Given the description of an element on the screen output the (x, y) to click on. 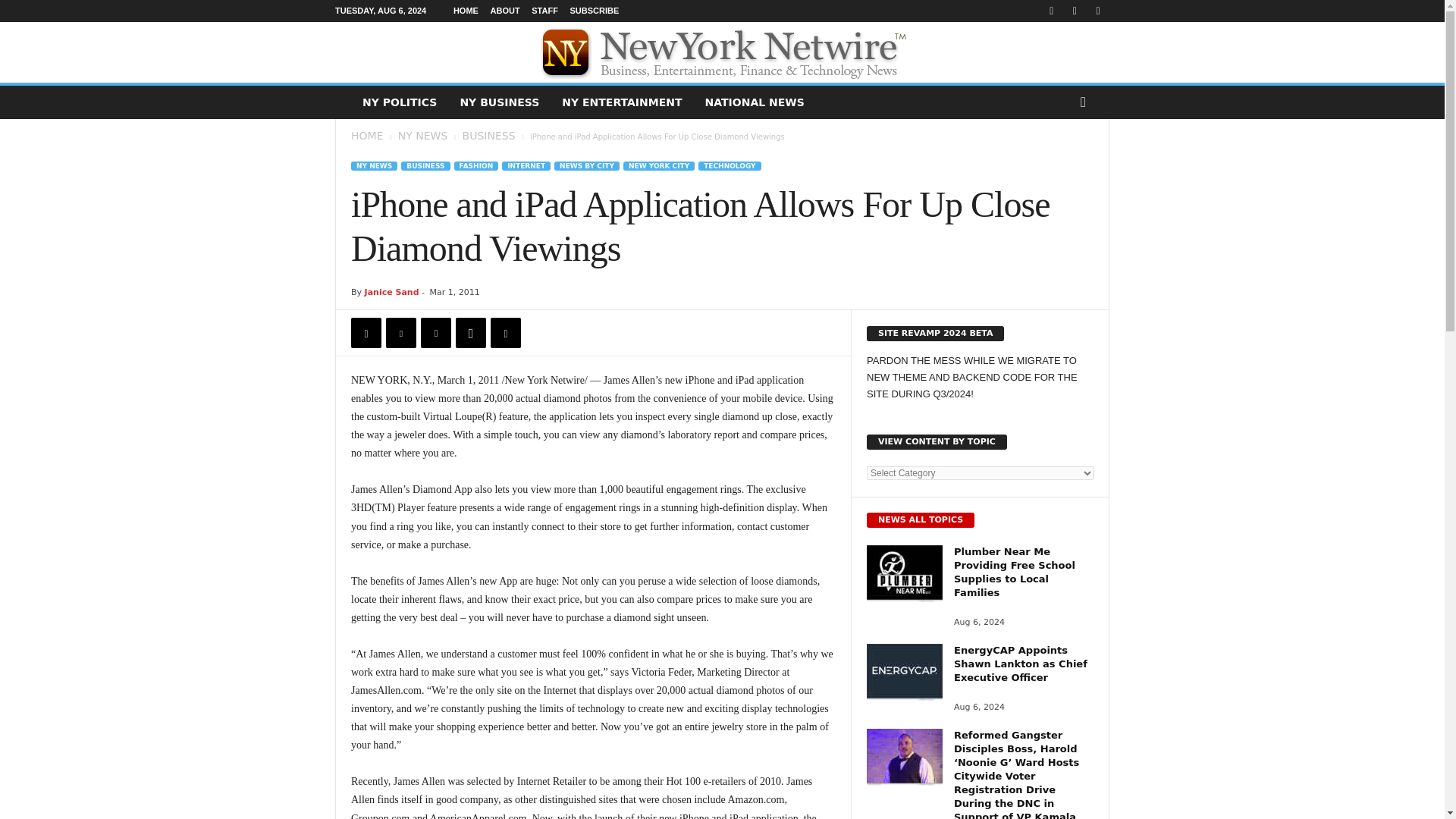
View all posts in Business (489, 135)
INTERNET (526, 165)
NEWS BY CITY (587, 165)
FASHION (476, 165)
Linkedin (505, 332)
Pinterest (435, 332)
NEW YORK CITY (658, 165)
New York Netwire - NY News (722, 52)
BUSINESS (425, 165)
NATIONAL NEWS (754, 101)
